Given the description of an element on the screen output the (x, y) to click on. 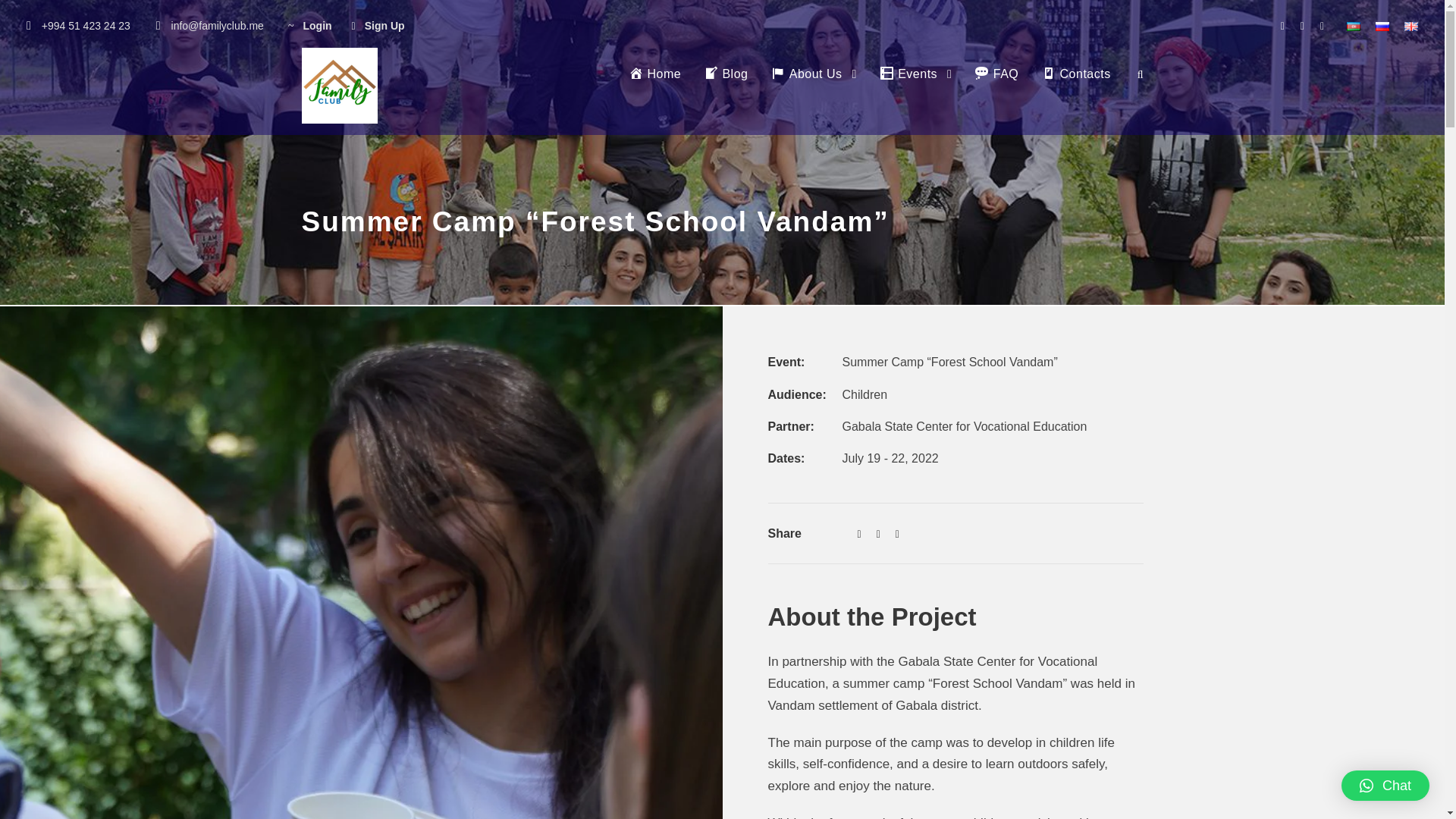
Family Club (339, 85)
